Given the description of an element on the screen output the (x, y) to click on. 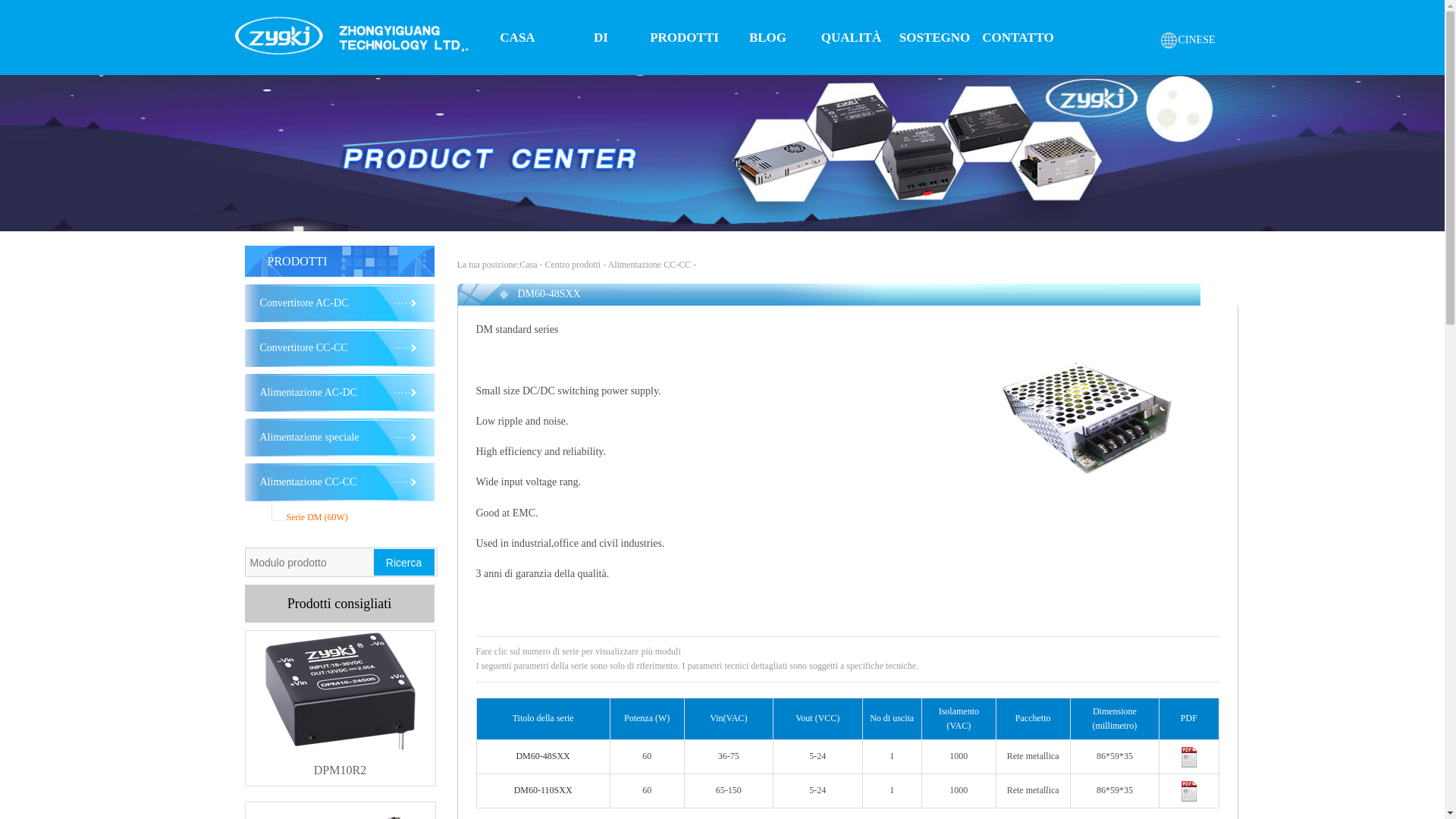
Convertitore AC-DC (338, 303)
DI (601, 37)
DM60-48SXX (542, 756)
CINESE (1186, 39)
Ricerca (402, 561)
Alimentazione CC-CC (338, 482)
Convertitore CC-CC (338, 347)
DPM10R2 (340, 764)
PRODOTTI (684, 37)
Alimentazione AC-DC (338, 392)
CONTATTO (1017, 37)
Ricerca (402, 561)
DM60-110SXX (542, 789)
BLOG (767, 37)
CASA (517, 37)
